Given the description of an element on the screen output the (x, y) to click on. 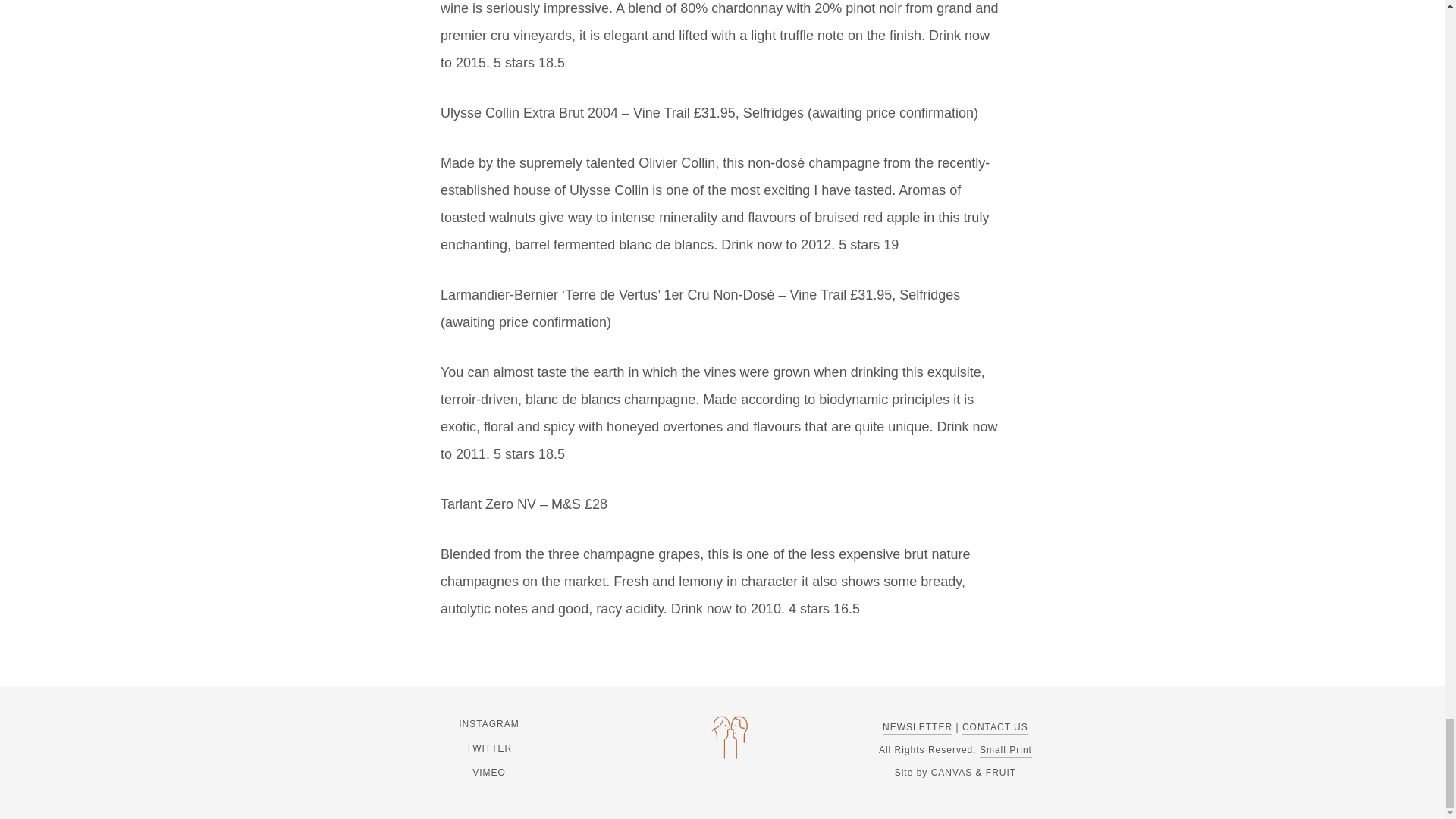
CONTACT US (994, 727)
VIMEO (488, 772)
CANVAS (951, 773)
INSTAGRAM (488, 723)
FRUIT (1000, 773)
TWITTER (488, 748)
Small Print (1005, 750)
NEWSLETTER (917, 727)
